Given the description of an element on the screen output the (x, y) to click on. 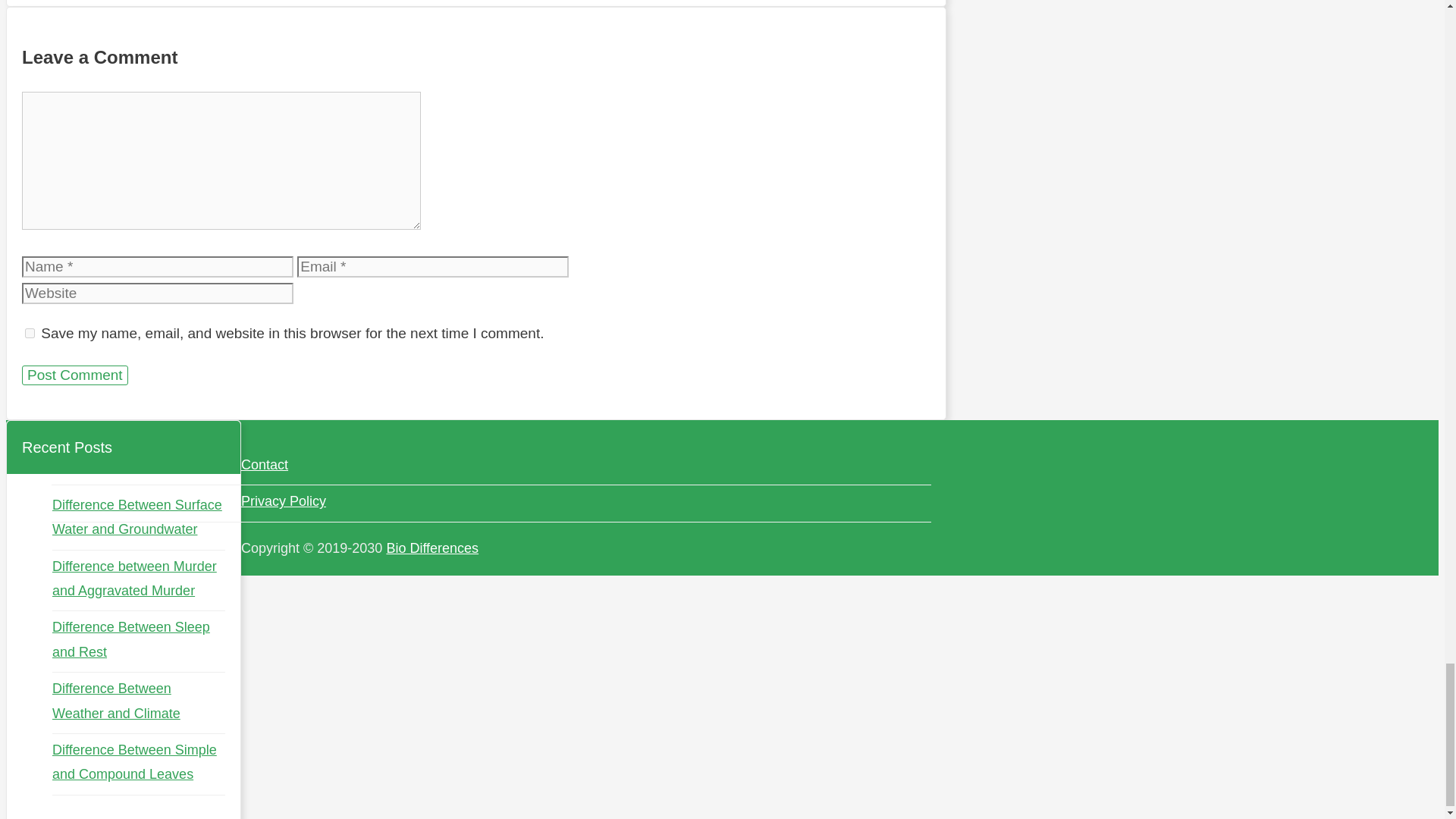
Difference Between Simple and Compound Leaves (134, 762)
Contact (264, 464)
Difference Between Weather and Climate (116, 700)
Post Comment (74, 374)
Privacy Policy (283, 500)
Difference Between Sleep and Rest (130, 639)
yes (29, 333)
Bio Differences (432, 548)
Difference between Murder and Aggravated Murder (134, 578)
Difference Between Surface Water and Groundwater (137, 517)
Post Comment (74, 374)
